Given the description of an element on the screen output the (x, y) to click on. 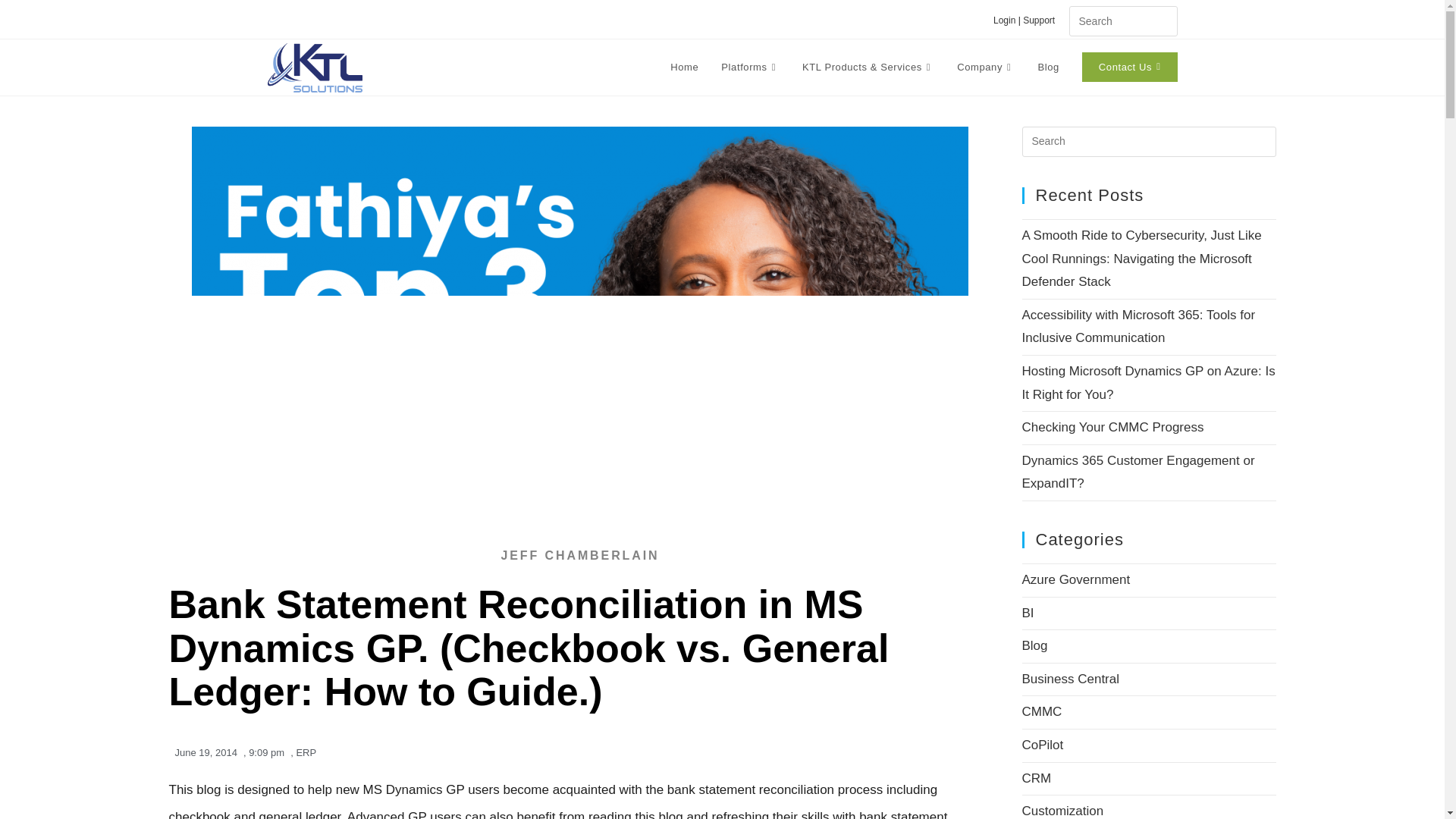
Platforms (750, 67)
Home (684, 67)
Contact Us (1129, 67)
Support (1044, 20)
Company (985, 67)
Login (1003, 20)
